Given the description of an element on the screen output the (x, y) to click on. 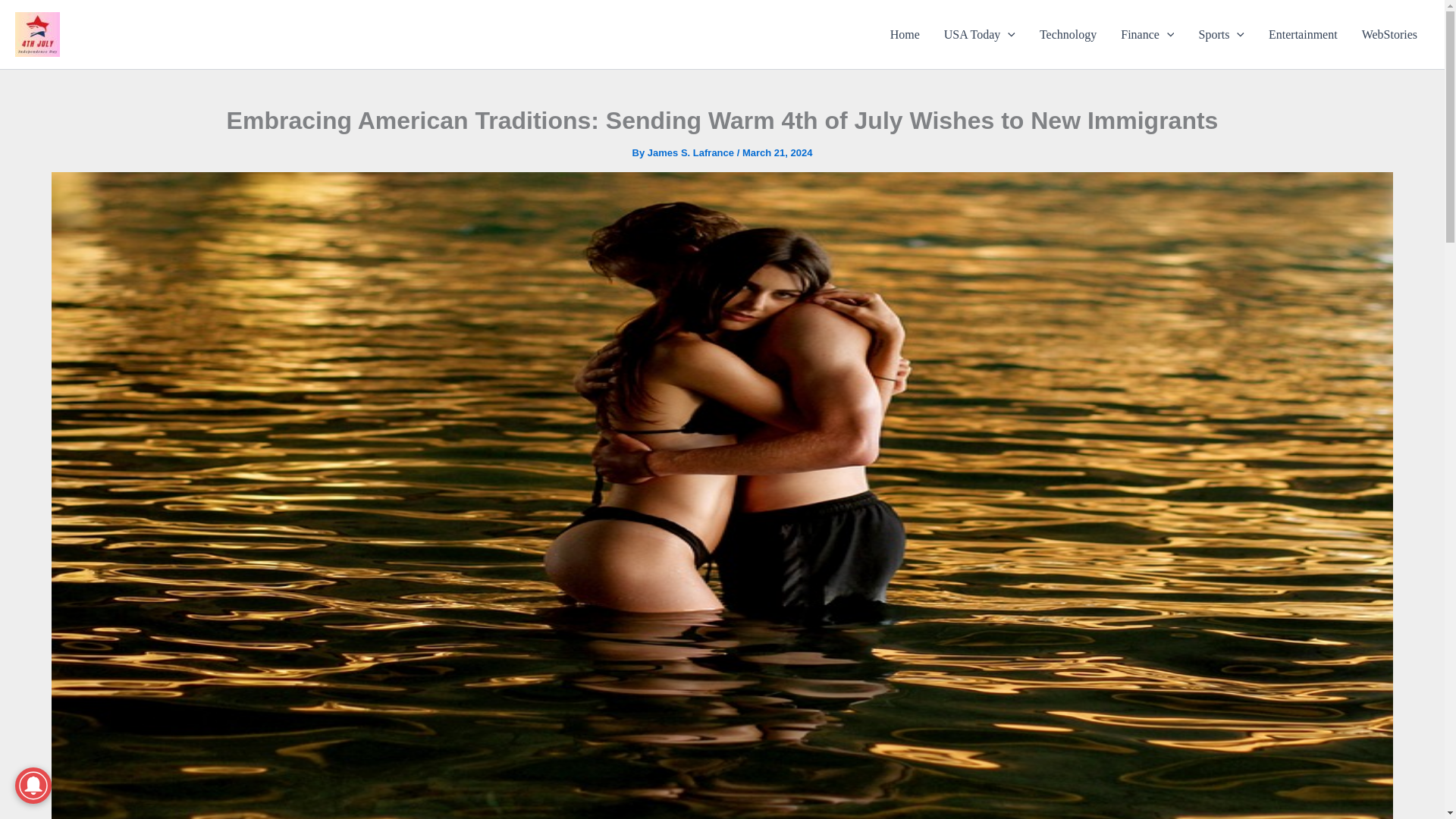
Entertainment (1302, 34)
Sports (1221, 34)
WebStories (1389, 34)
Technology (1067, 34)
James S. Lafrance (691, 152)
USA Today (979, 34)
View all posts by James S. Lafrance (691, 152)
Finance (1147, 34)
